Given the description of an element on the screen output the (x, y) to click on. 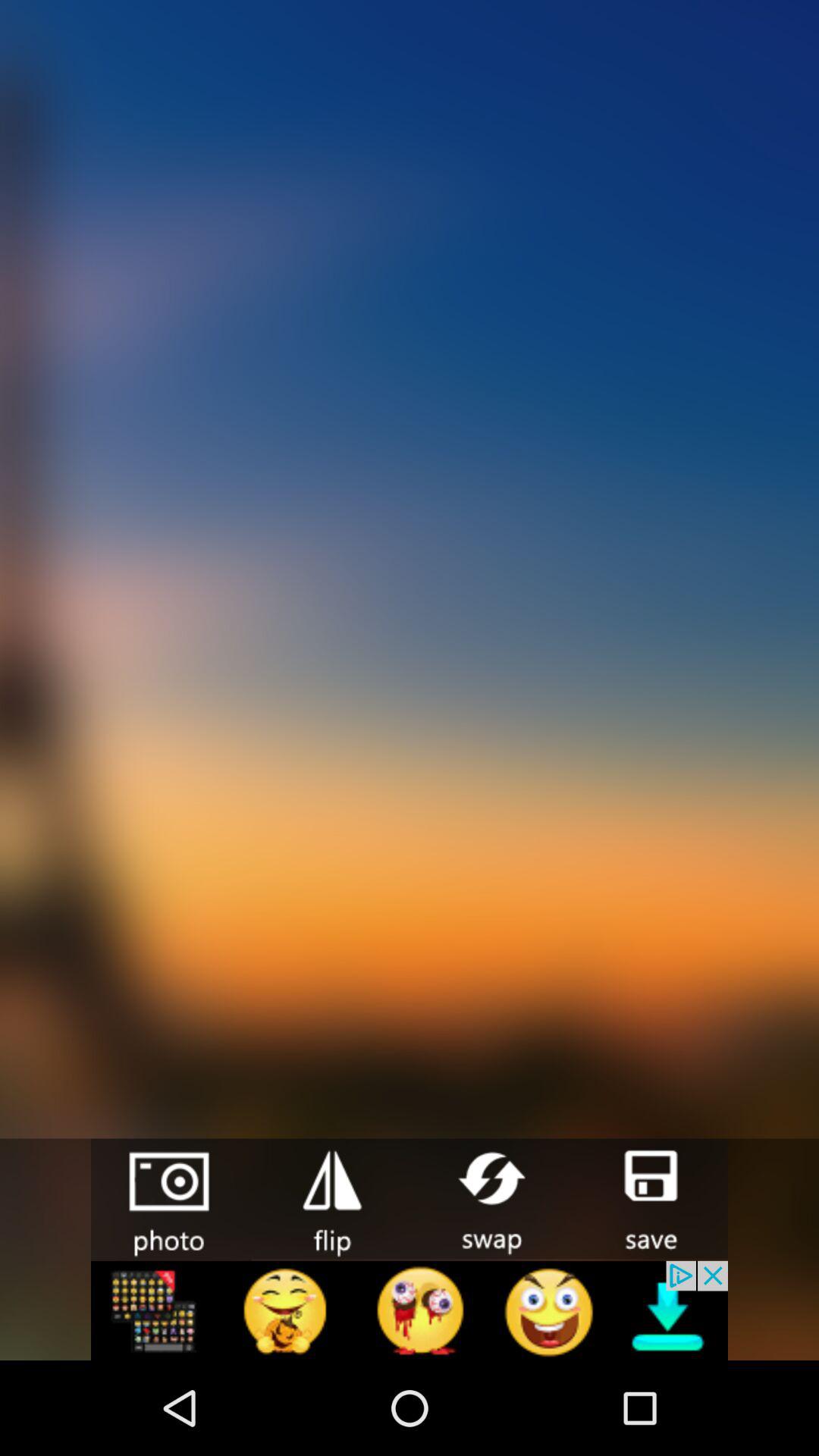
save photo (648, 1198)
